Given the description of an element on the screen output the (x, y) to click on. 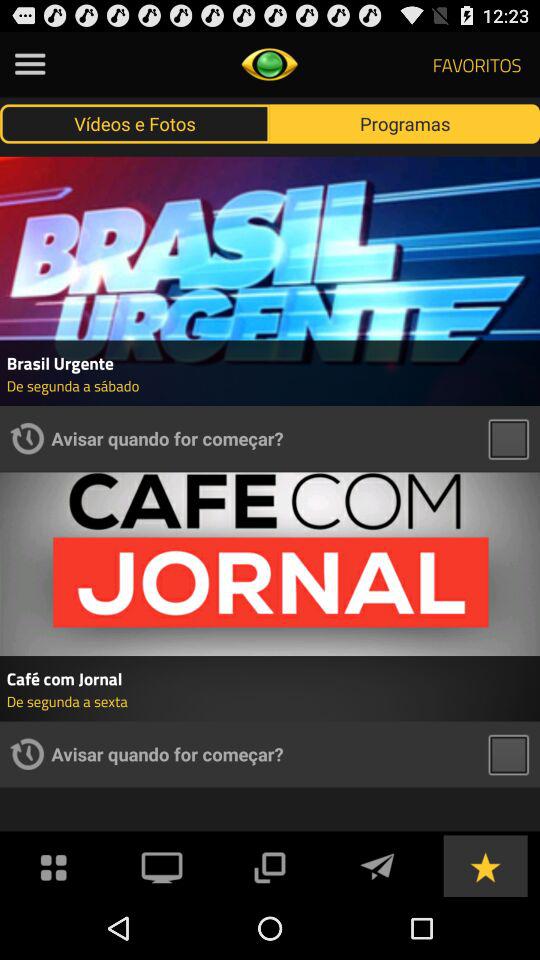
press the icon to the left of the programas (135, 123)
